Given the description of an element on the screen output the (x, y) to click on. 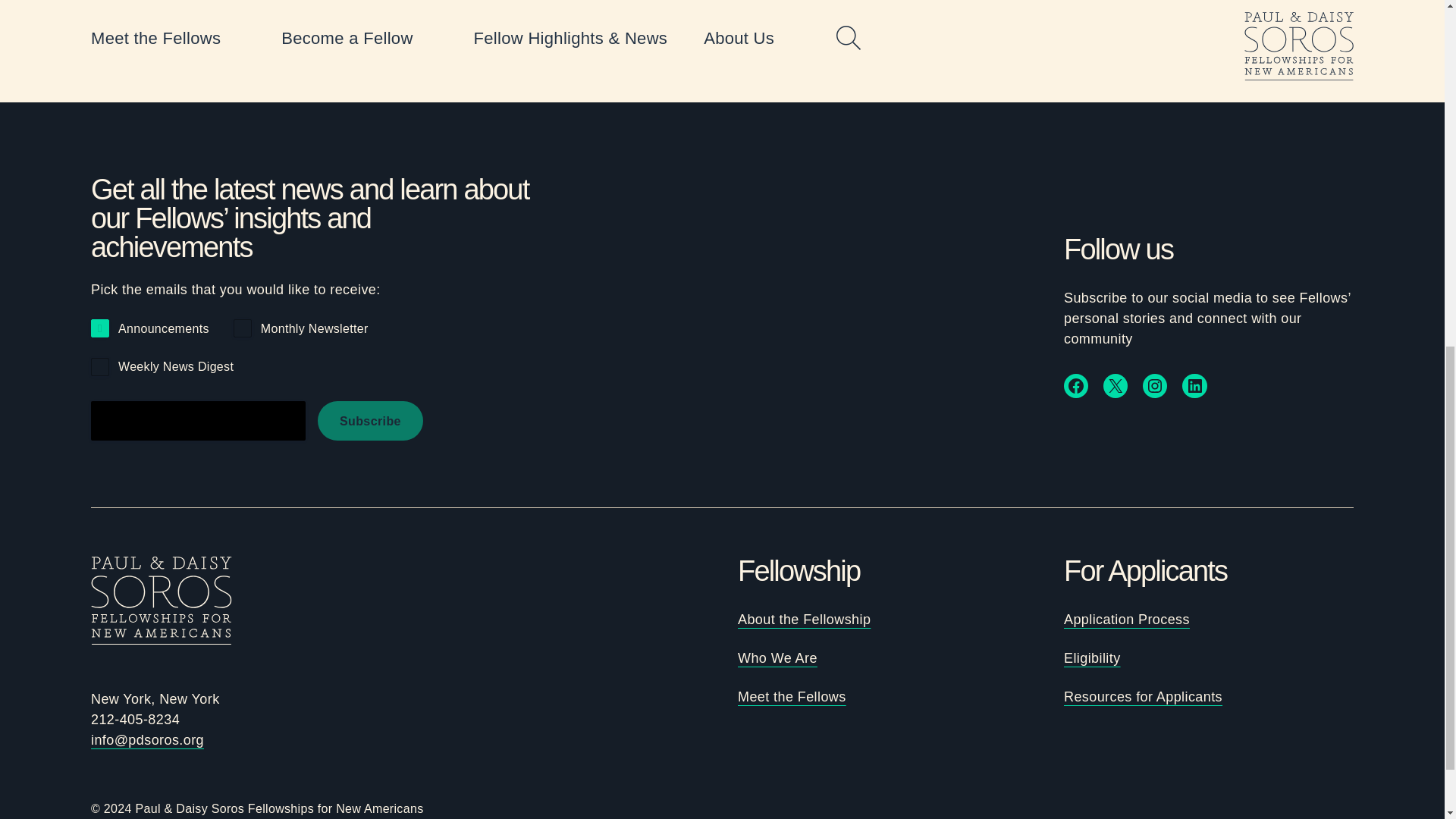
X (1114, 385)
Who We Are (777, 657)
Facebook (1075, 385)
Resources for Applicants (1143, 696)
Meet the Fellows (791, 696)
Subscribe (370, 420)
Instagram (1154, 385)
Application Process (1126, 619)
LinkedIn (1194, 385)
Eligibility (1092, 657)
